Given the description of an element on the screen output the (x, y) to click on. 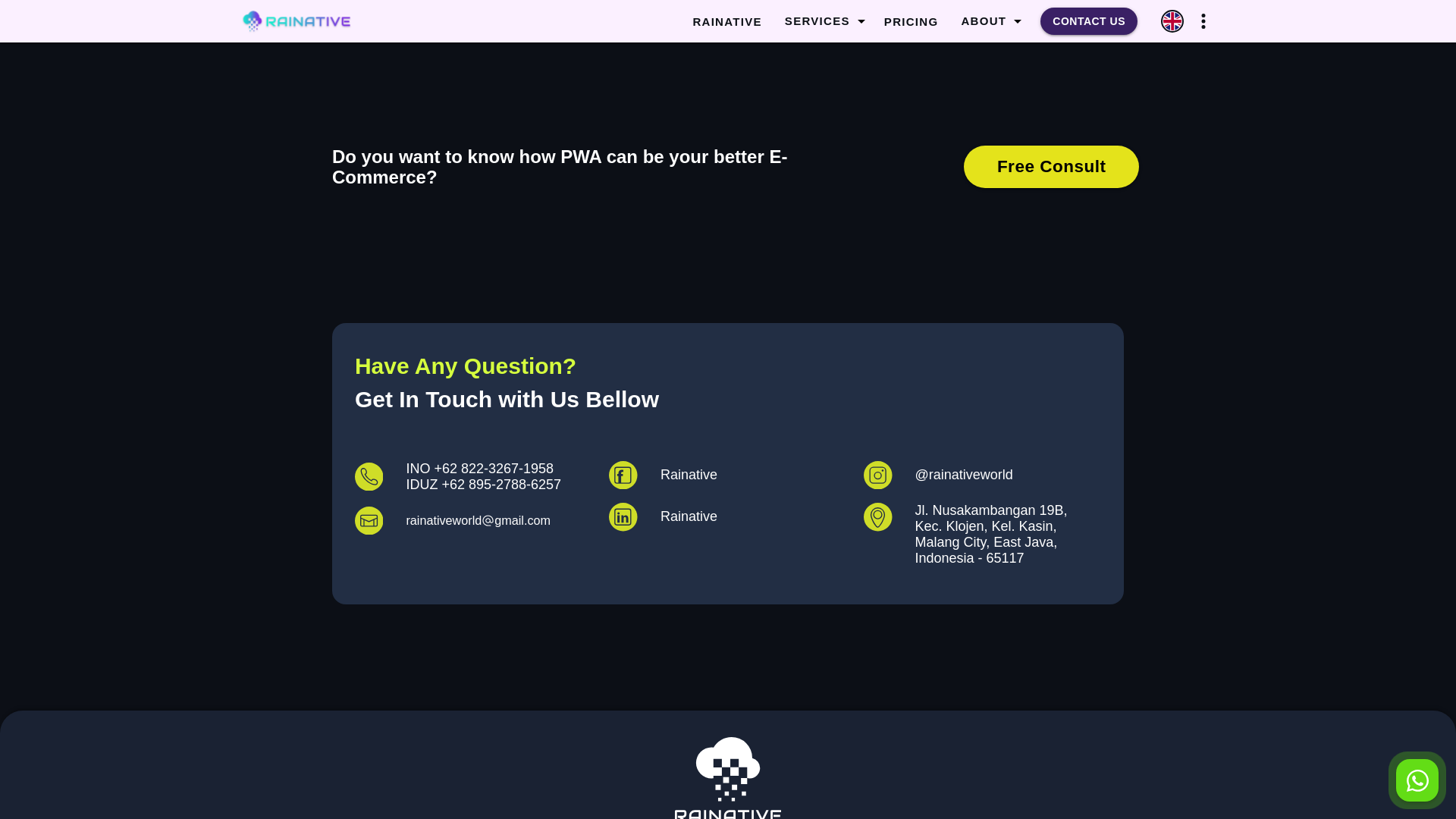
Berkah Java Indo (727, 778)
Free Consult (1050, 166)
Rainative (726, 516)
Rainative (726, 475)
